Given the description of an element on the screen output the (x, y) to click on. 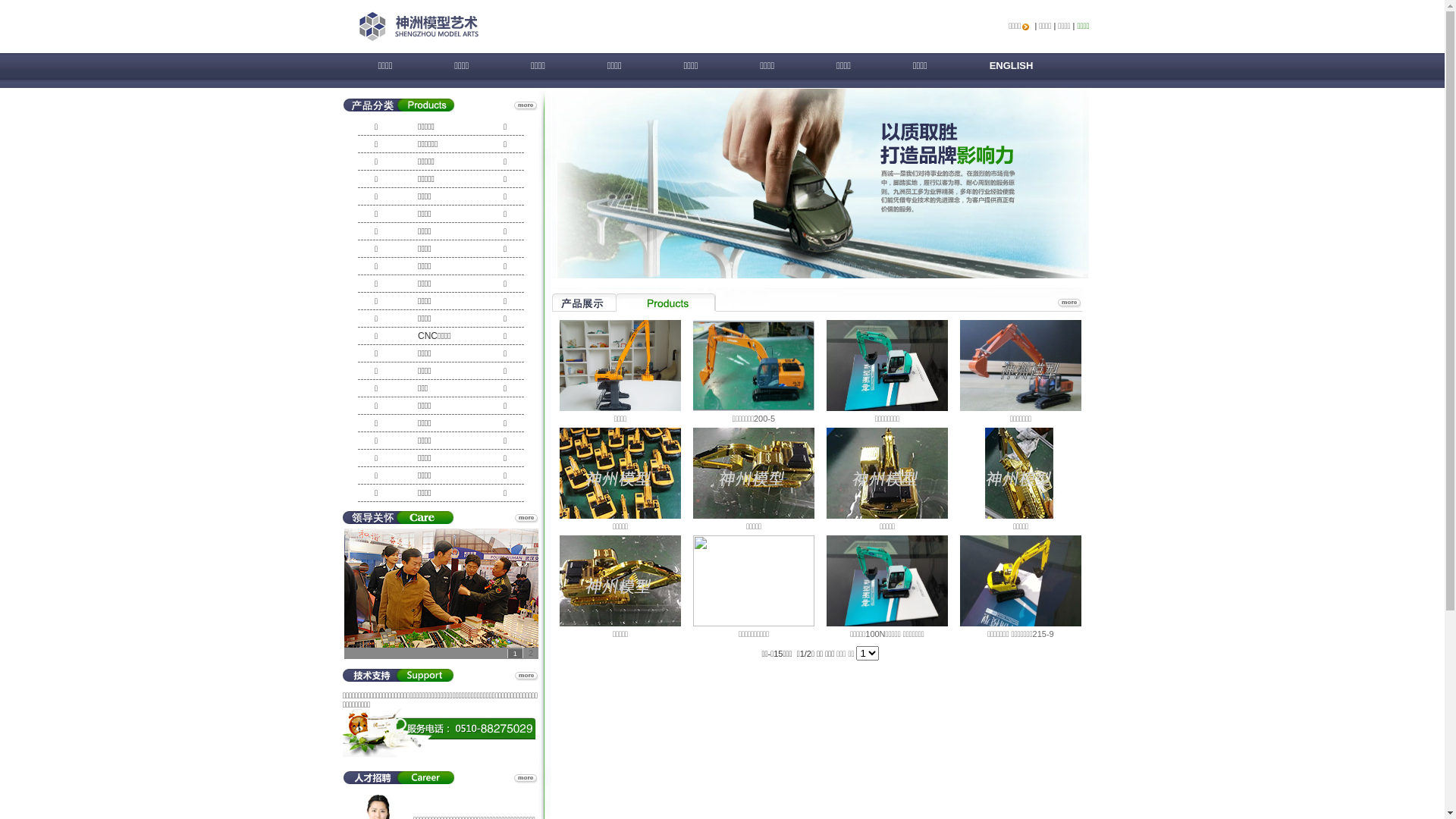
ENGLISH Element type: text (1005, 70)
2 Element type: text (530, 652)
1 Element type: text (514, 653)
